Given the description of an element on the screen output the (x, y) to click on. 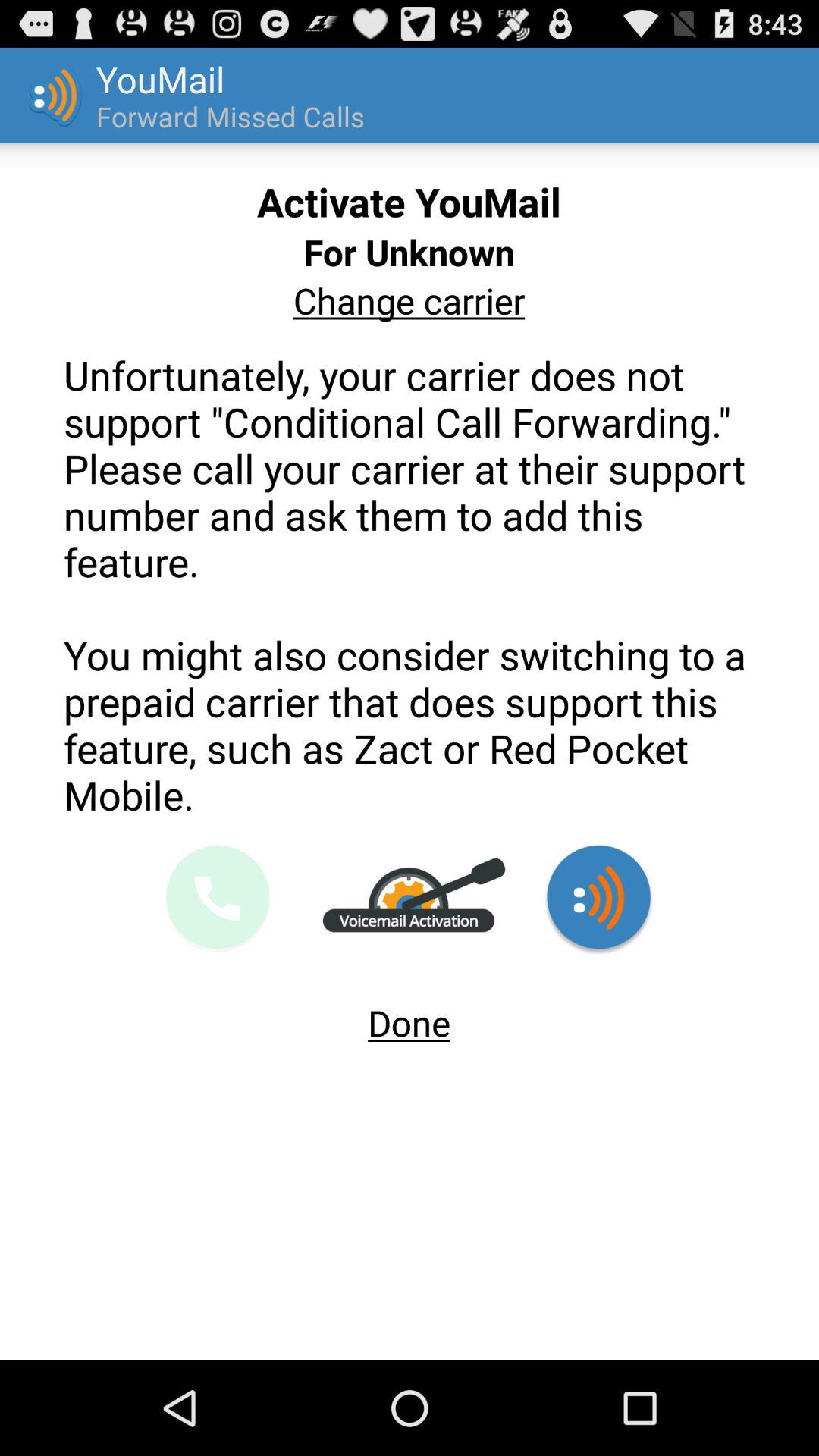
jump to done item (408, 1016)
